Given the description of an element on the screen output the (x, y) to click on. 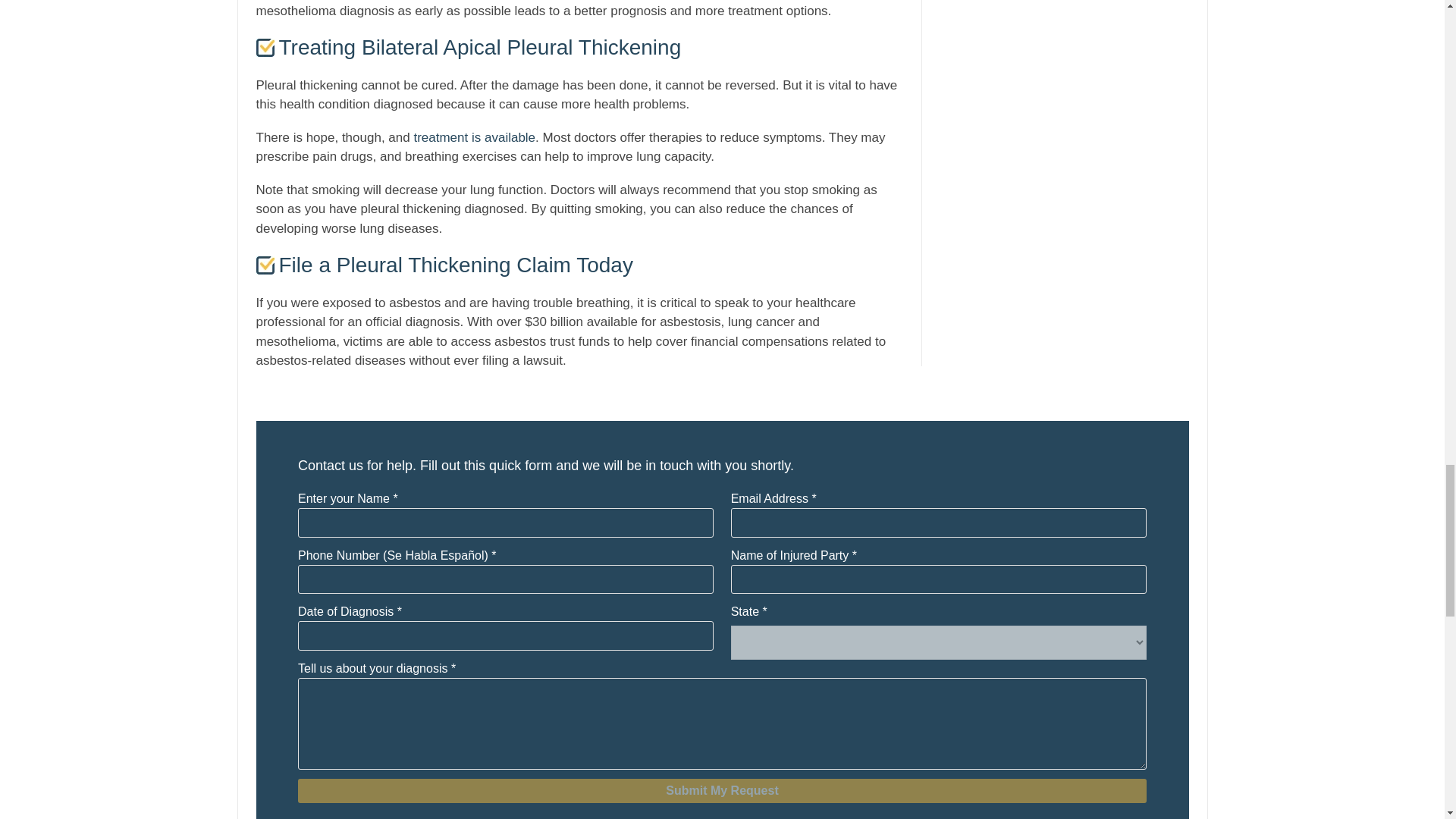
Submit My Request (722, 790)
